Given the description of an element on the screen output the (x, y) to click on. 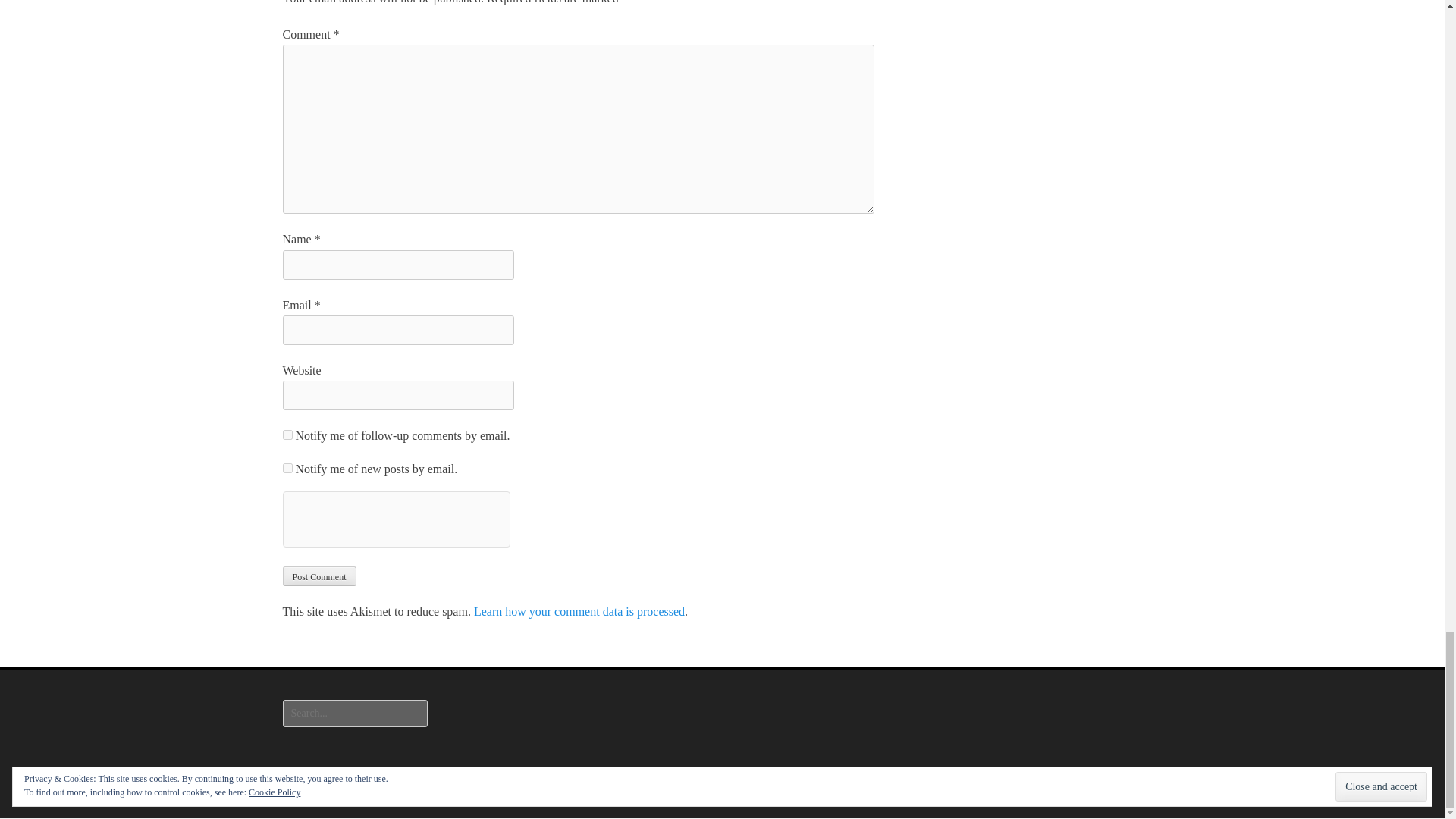
Search for: (354, 713)
subscribe (287, 468)
Post Comment (318, 576)
subscribe (287, 434)
